Given the description of an element on the screen output the (x, y) to click on. 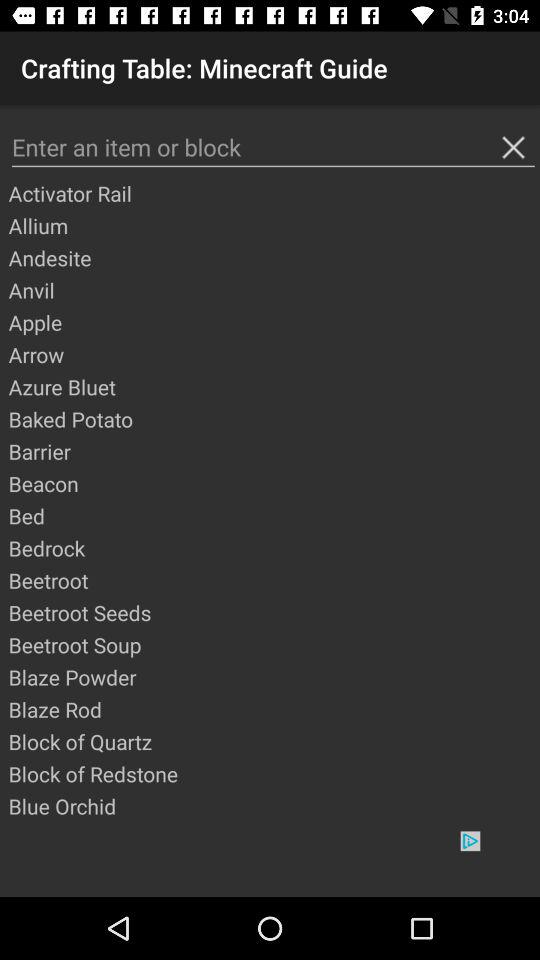
turn on the arrow item (273, 354)
